Given the description of an element on the screen output the (x, y) to click on. 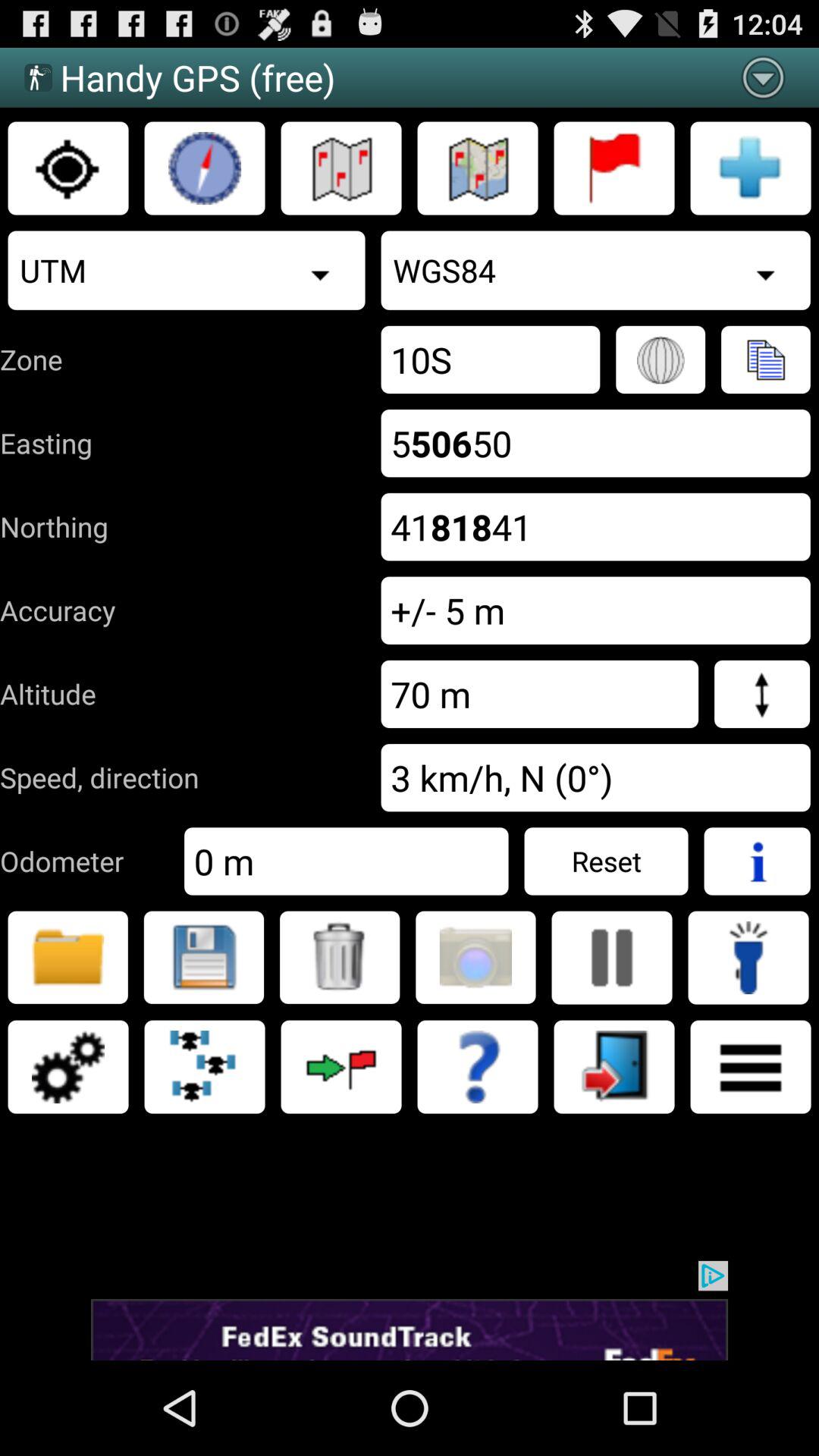
click advertisement (409, 1310)
